Given the description of an element on the screen output the (x, y) to click on. 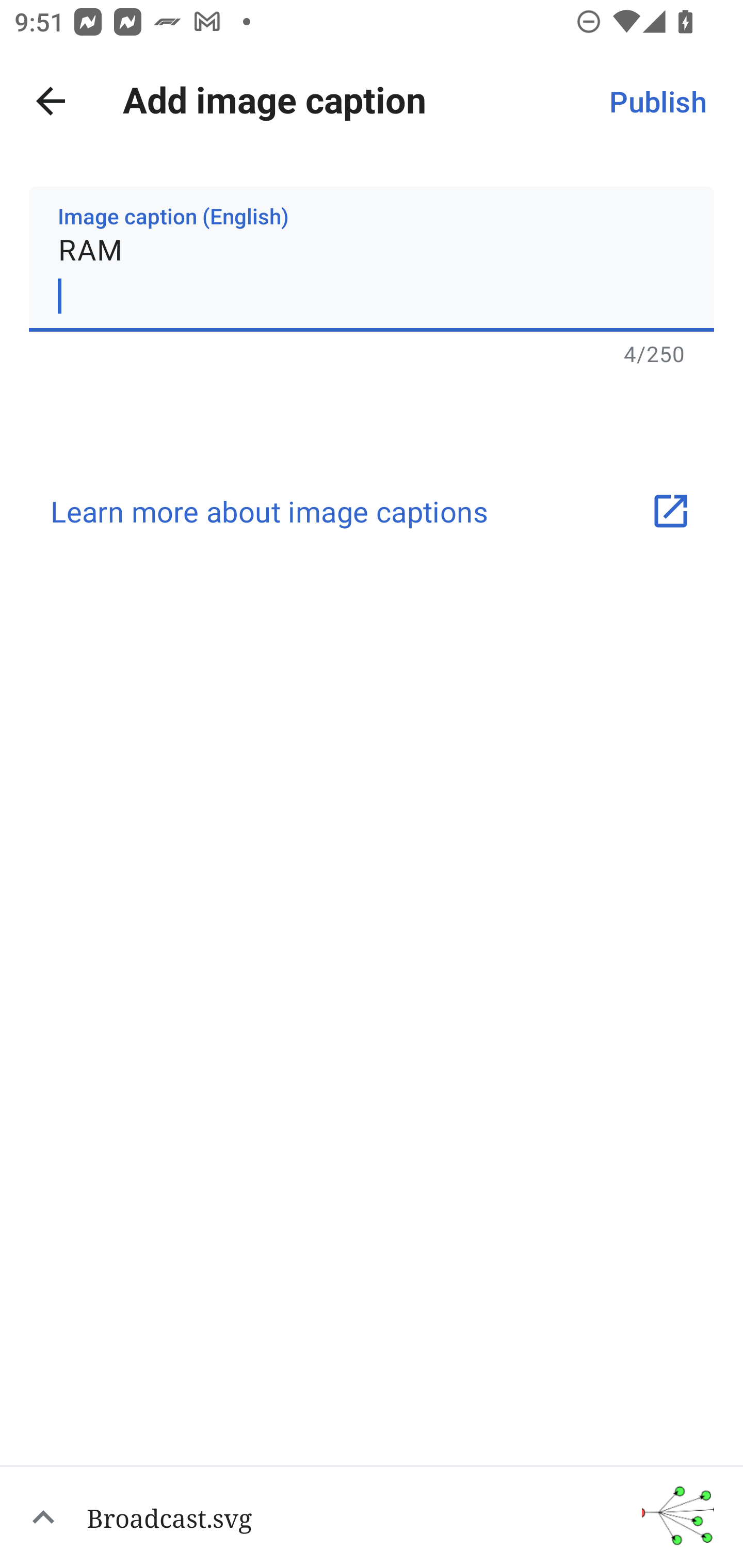
Cancel (50, 101)
Publish (657, 101)
RAM
 (371, 259)
Learn more about image captions (371, 511)
Broadcast.svg (371, 1516)
